Given the description of an element on the screen output the (x, y) to click on. 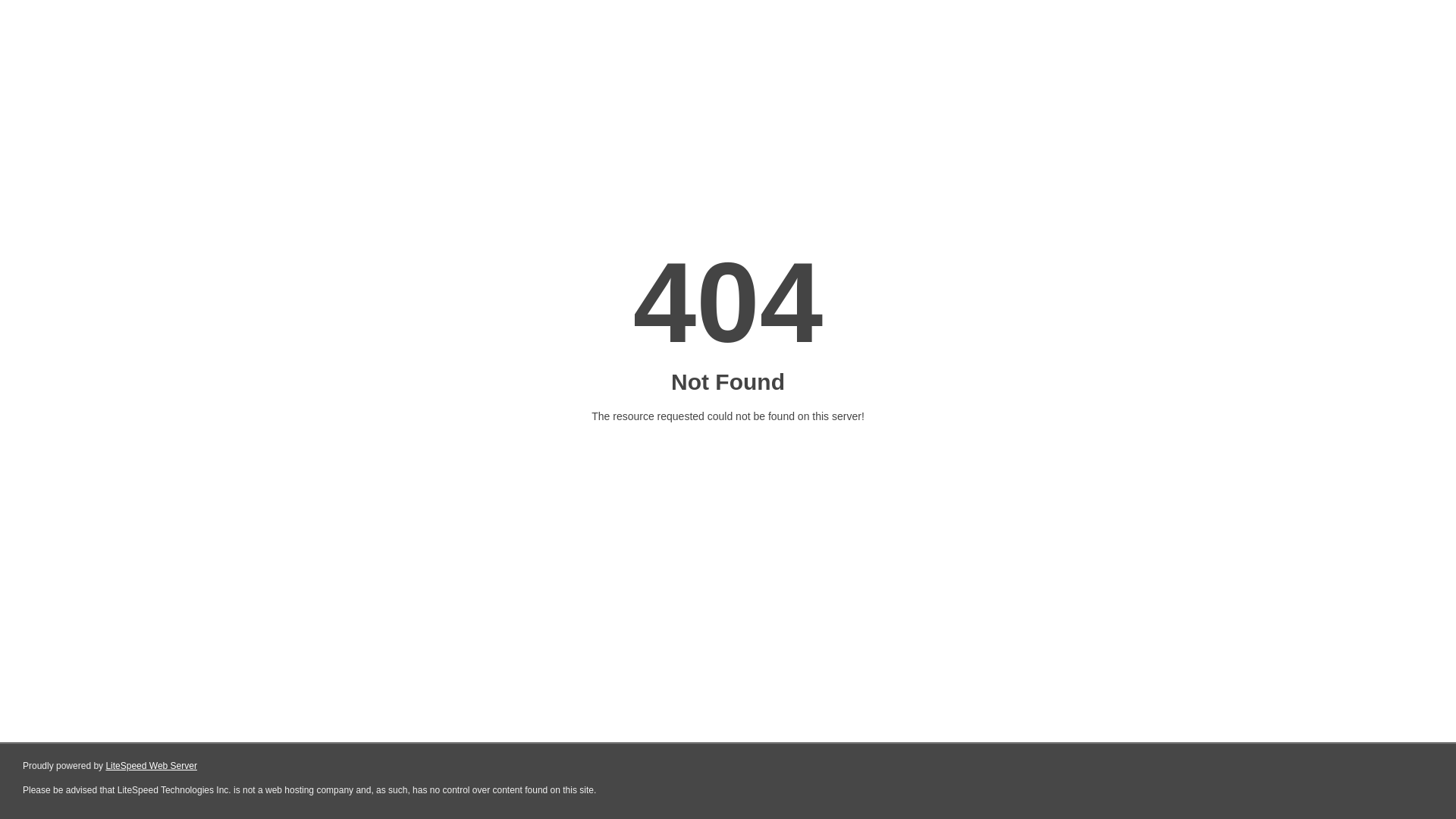
LiteSpeed Web Server Element type: text (151, 765)
